Given the description of an element on the screen output the (x, y) to click on. 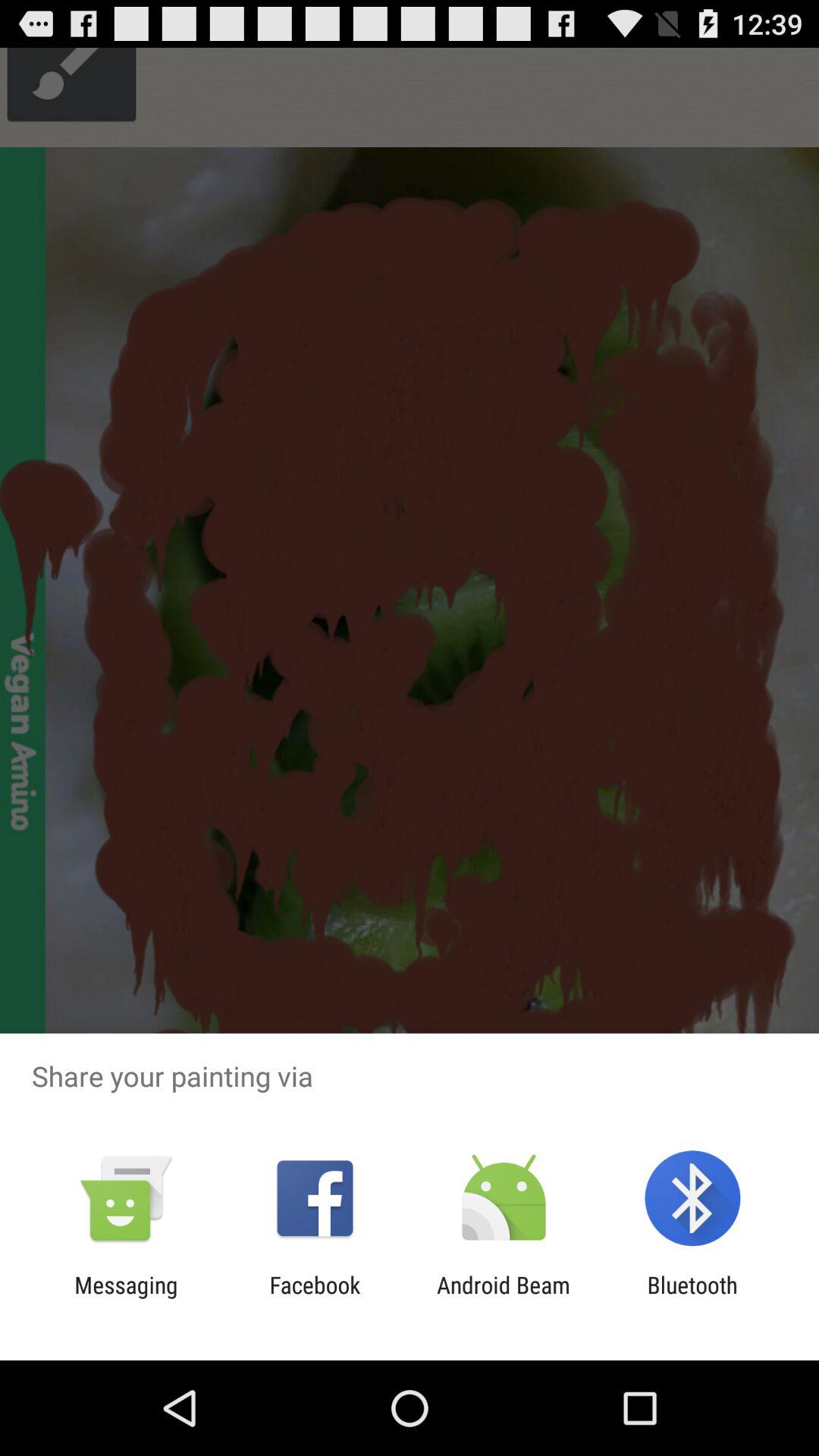
open messaging icon (126, 1298)
